Given the description of an element on the screen output the (x, y) to click on. 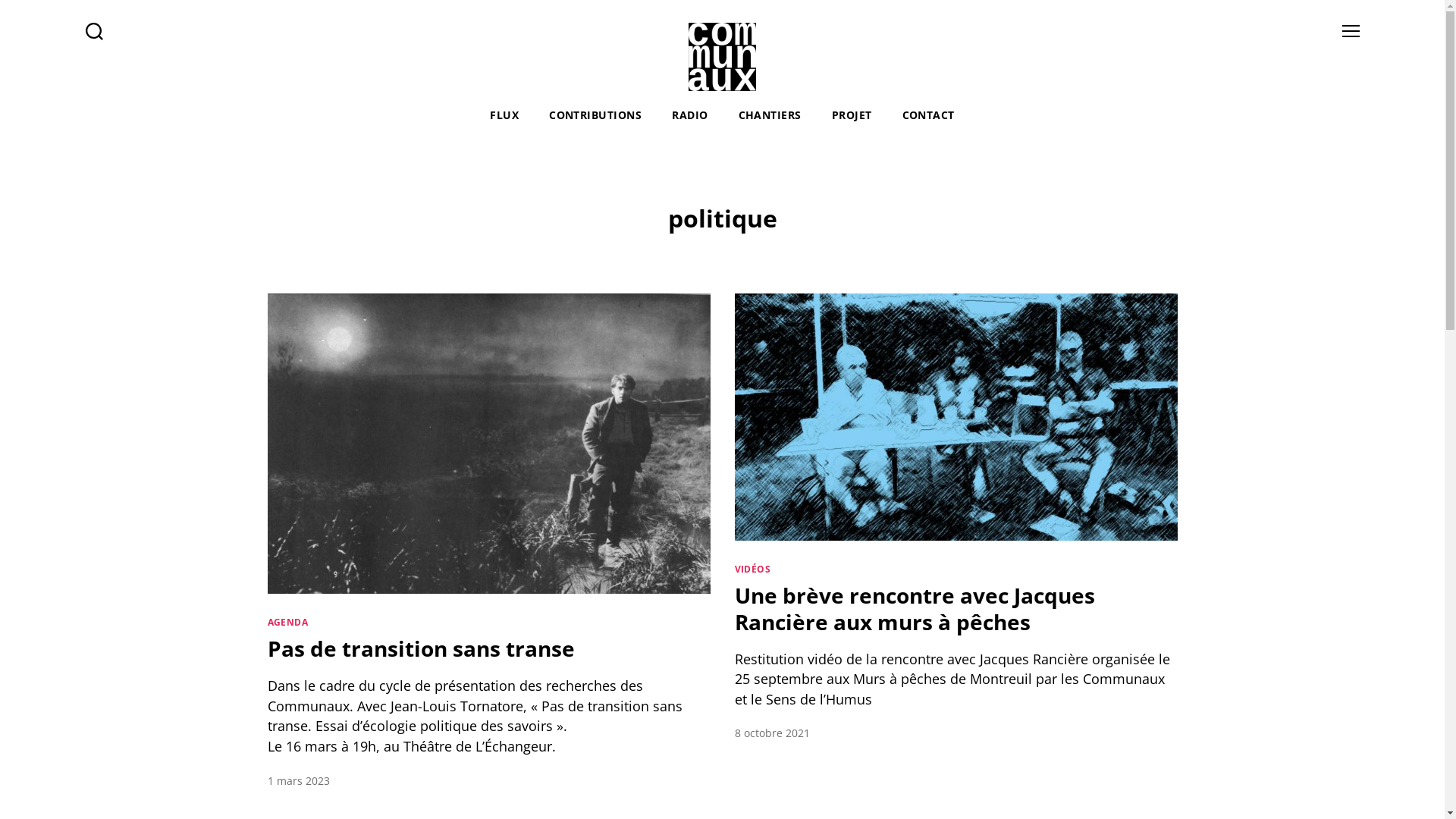
FLUX Element type: text (503, 115)
PROJET Element type: text (851, 115)
Recherche Element type: text (93, 30)
CHANTIERS Element type: text (769, 115)
CONTRIBUTIONS Element type: text (595, 115)
Pas de transition sans transe Element type: text (420, 647)
8 octobre 2021 Element type: text (771, 732)
Menu Element type: text (1350, 30)
CONTACT Element type: text (928, 115)
RADIO Element type: text (689, 115)
1 mars 2023 Element type: text (297, 780)
AGENDA Element type: text (286, 621)
